Given the description of an element on the screen output the (x, y) to click on. 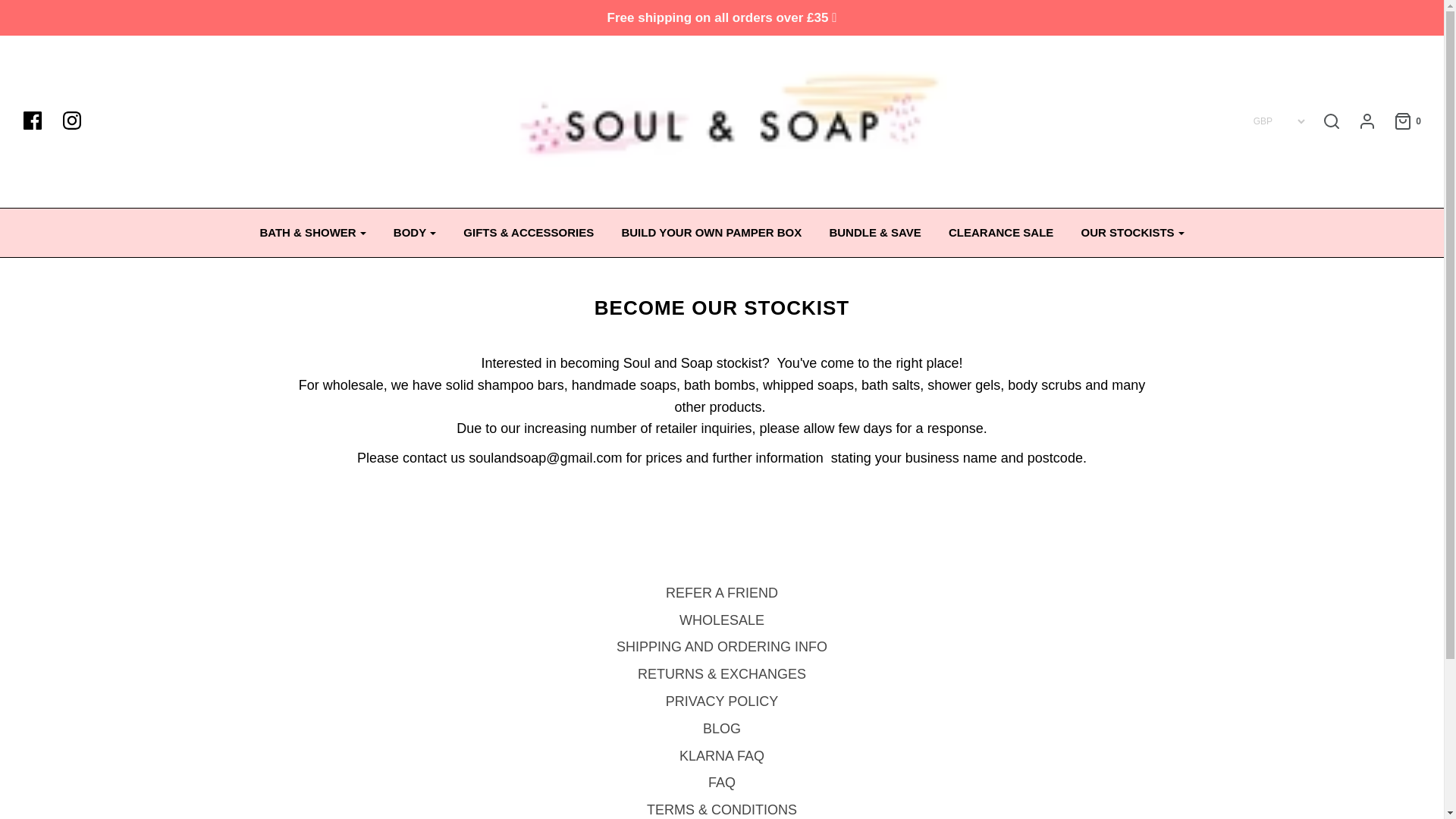
CLEARANCE SALE (1000, 231)
REFER A FRIEND (721, 595)
OUR STOCKISTS (1132, 231)
Facebook icon (32, 120)
Search (1101, 4)
Cart (1399, 121)
Log in (1358, 121)
0 (1399, 121)
BUILD YOUR OWN PAMPER BOX (711, 231)
Search (1331, 121)
Instagram icon (79, 121)
WHOLESALE (721, 623)
Instagram icon (71, 120)
Facebook icon (39, 121)
SHIPPING AND ORDERING INFO (721, 649)
